Given the description of an element on the screen output the (x, y) to click on. 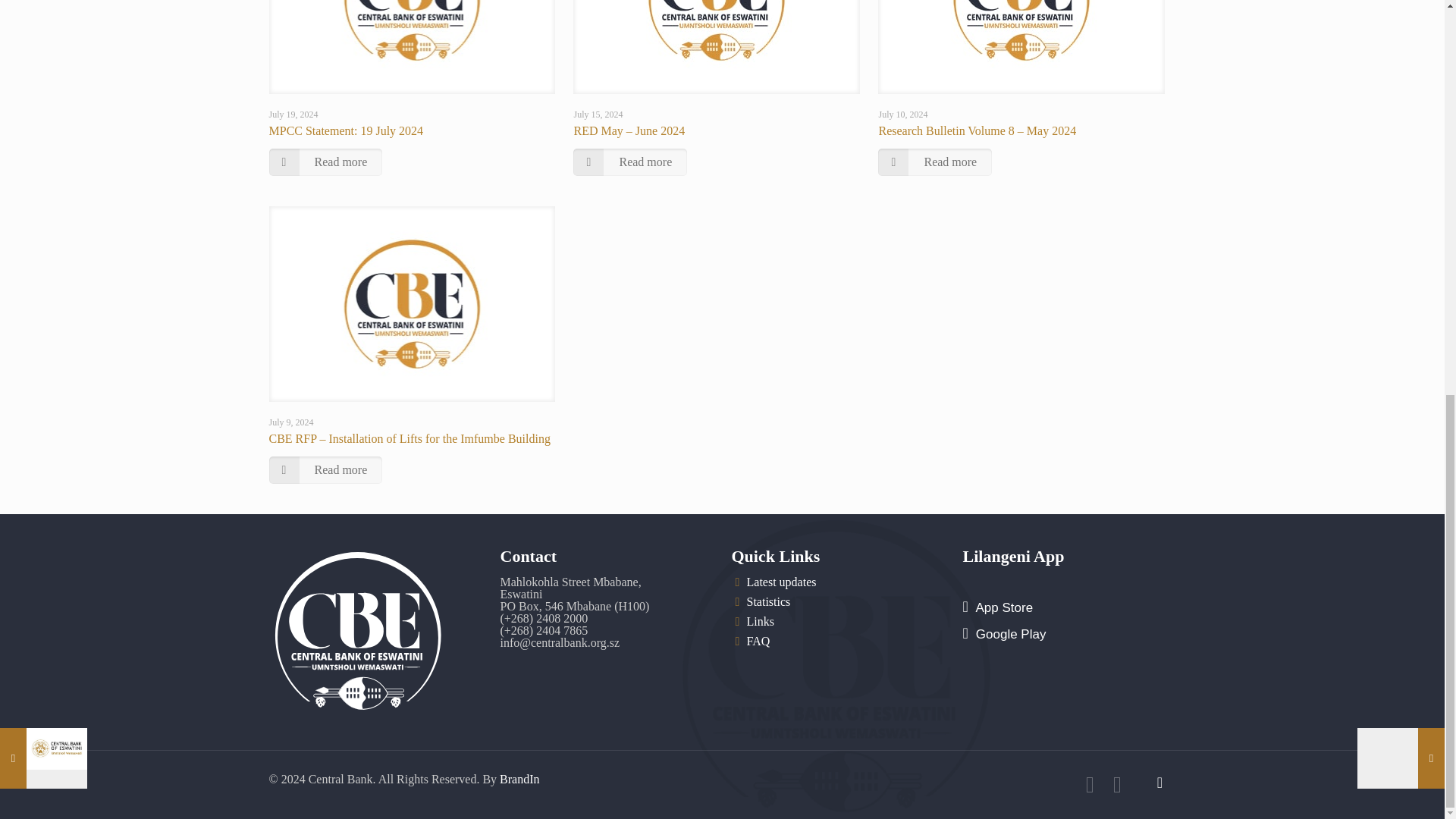
Facebook (1089, 788)
YouTube (1116, 788)
